Given the description of an element on the screen output the (x, y) to click on. 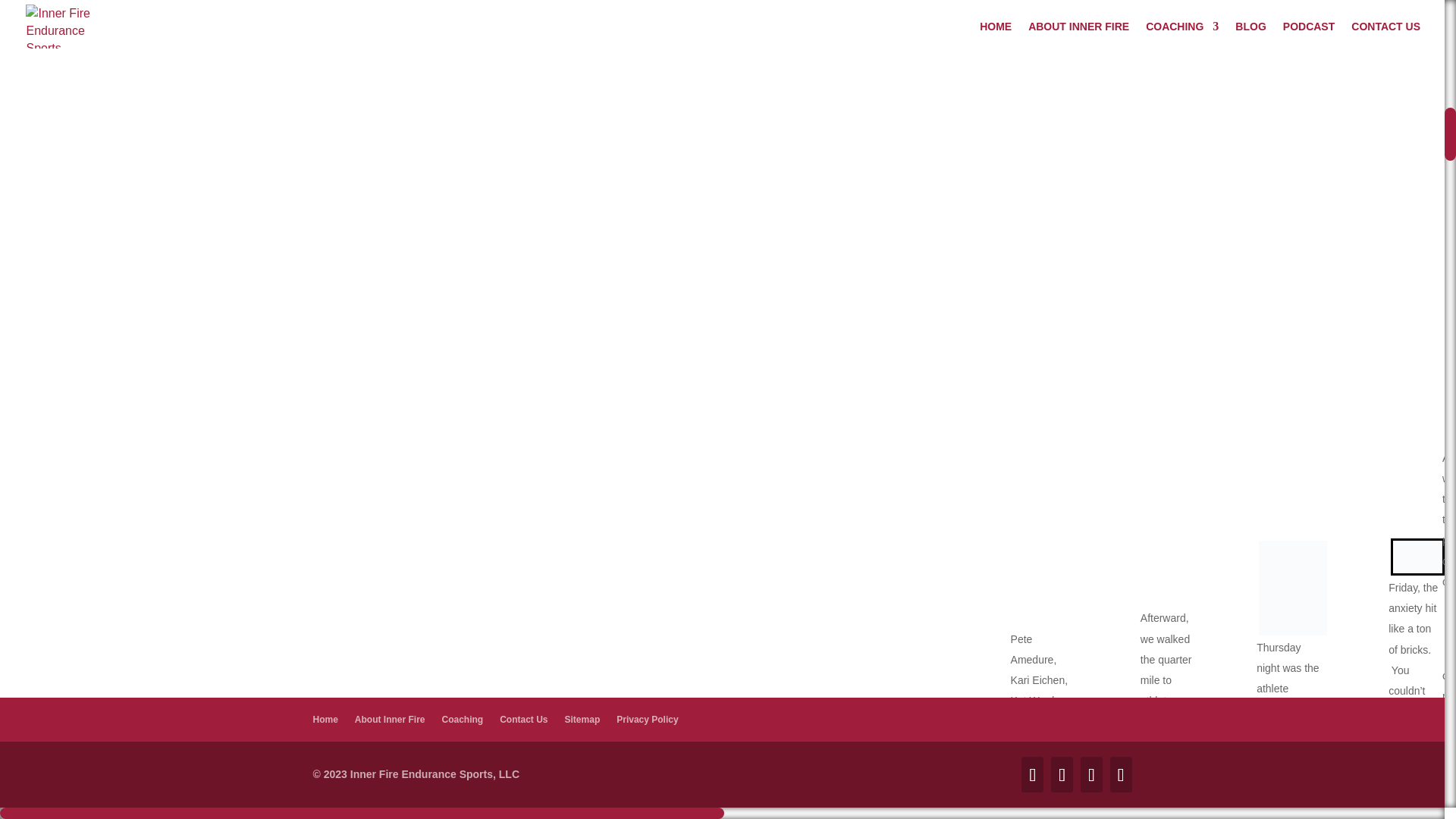
Laketown Wharf (1105, 772)
Laketown Wharf (1105, 772)
